Given the description of an element on the screen output the (x, y) to click on. 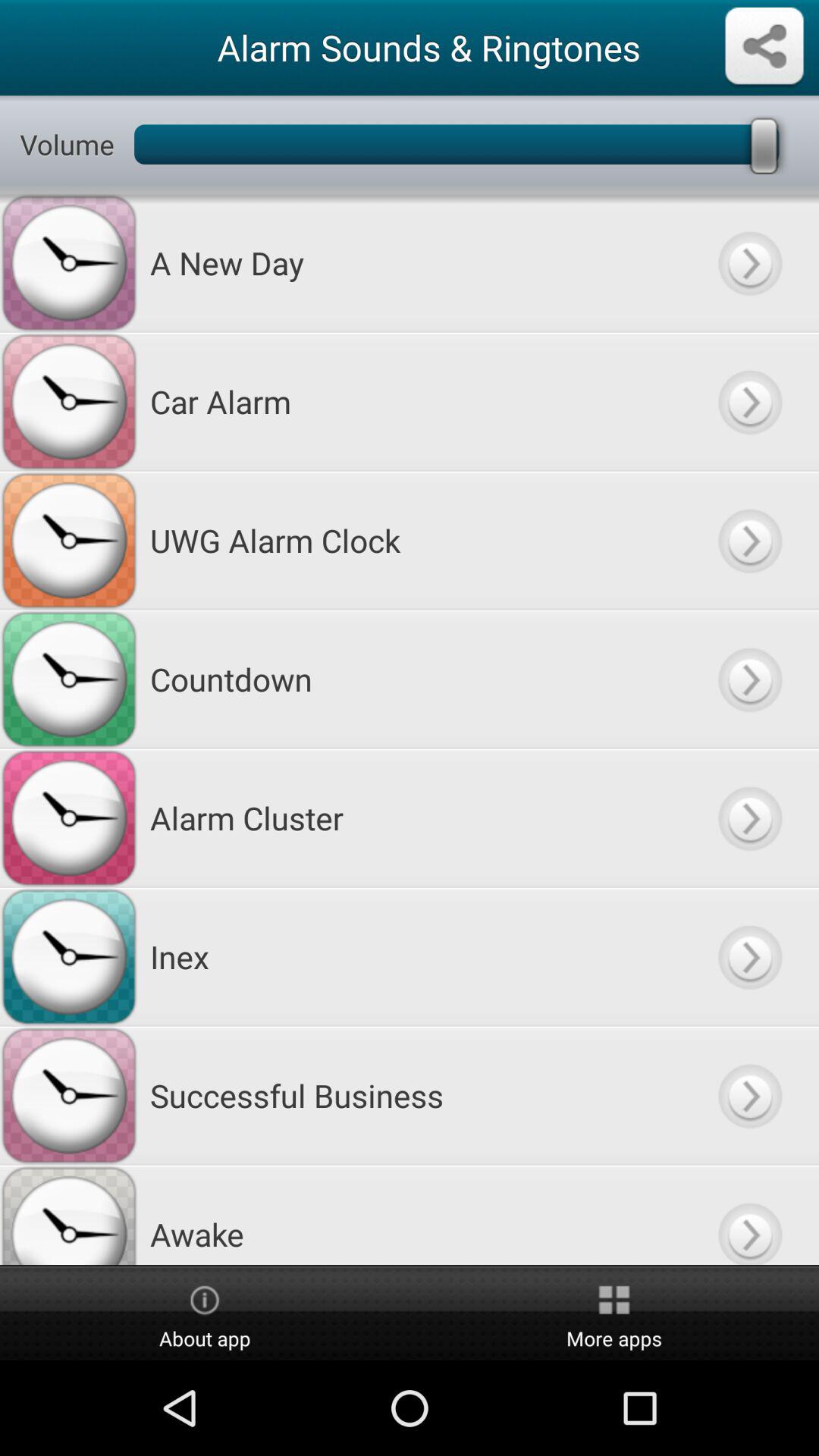
details button of a matter (749, 262)
